Given the description of an element on the screen output the (x, y) to click on. 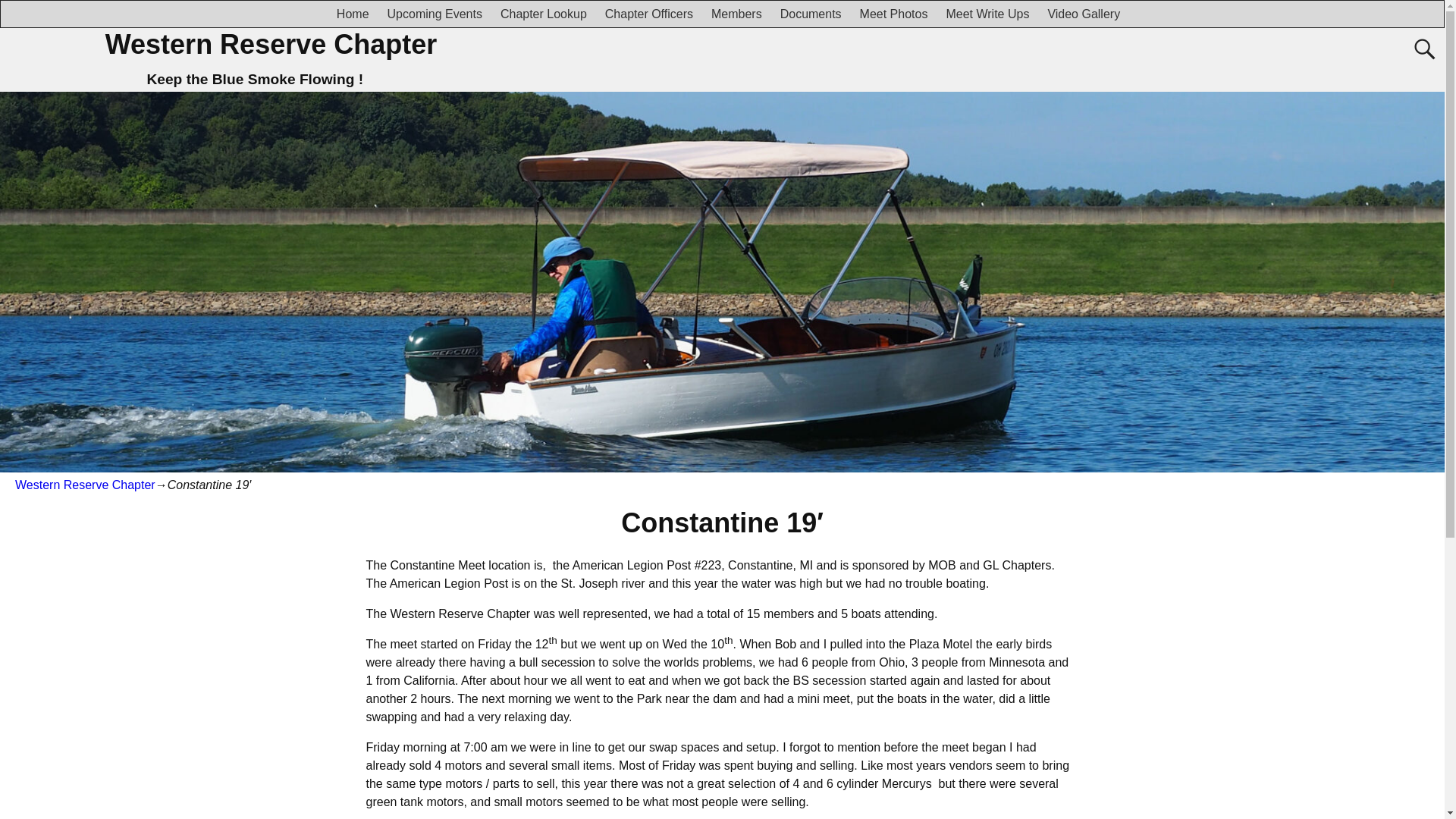
Western Reserve Chapter (270, 43)
Documents (810, 13)
Chapter Officers (648, 13)
Meet Photos (893, 13)
Members (736, 13)
Home (352, 13)
Upcoming Events (435, 13)
Chapter Lookup (543, 13)
